Given the description of an element on the screen output the (x, y) to click on. 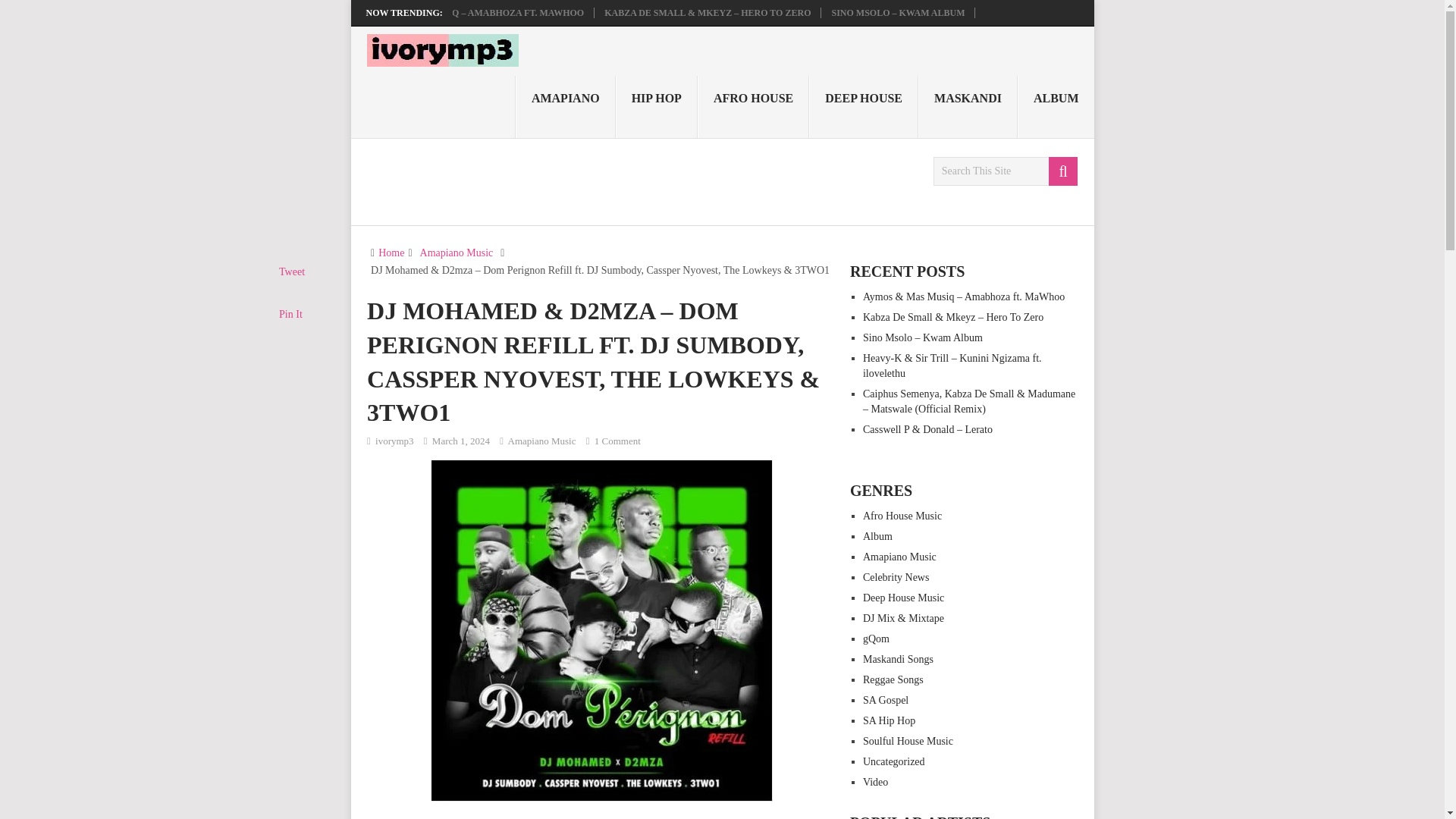
Amapiano Music (456, 252)
ivorymp3 (394, 440)
AFRO HOUSE (753, 107)
View all posts in Amapiano Music (542, 440)
MASKANDI (967, 107)
Tweet (291, 271)
Posts by ivorymp3 (394, 440)
HIP HOP (656, 107)
AMAPIANO (565, 107)
1 Comment (617, 440)
Home (391, 252)
Amapiano Music (542, 440)
Pin It (290, 314)
DEEP HOUSE (863, 107)
ALBUM (1055, 107)
